Given the description of an element on the screen output the (x, y) to click on. 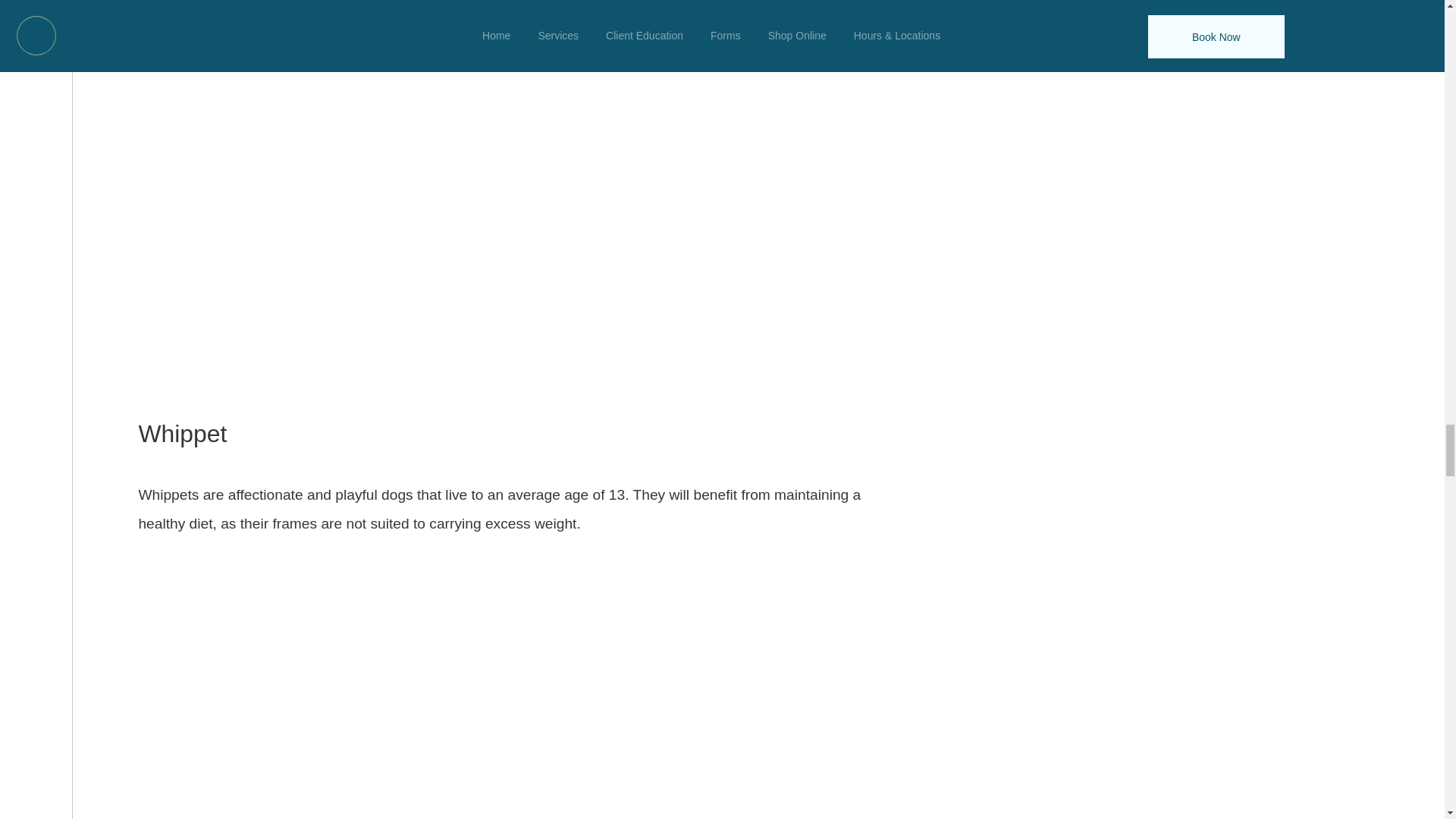
The 25 Dog Breeds With Longest Life Spans 15 (512, 681)
